Given the description of an element on the screen output the (x, y) to click on. 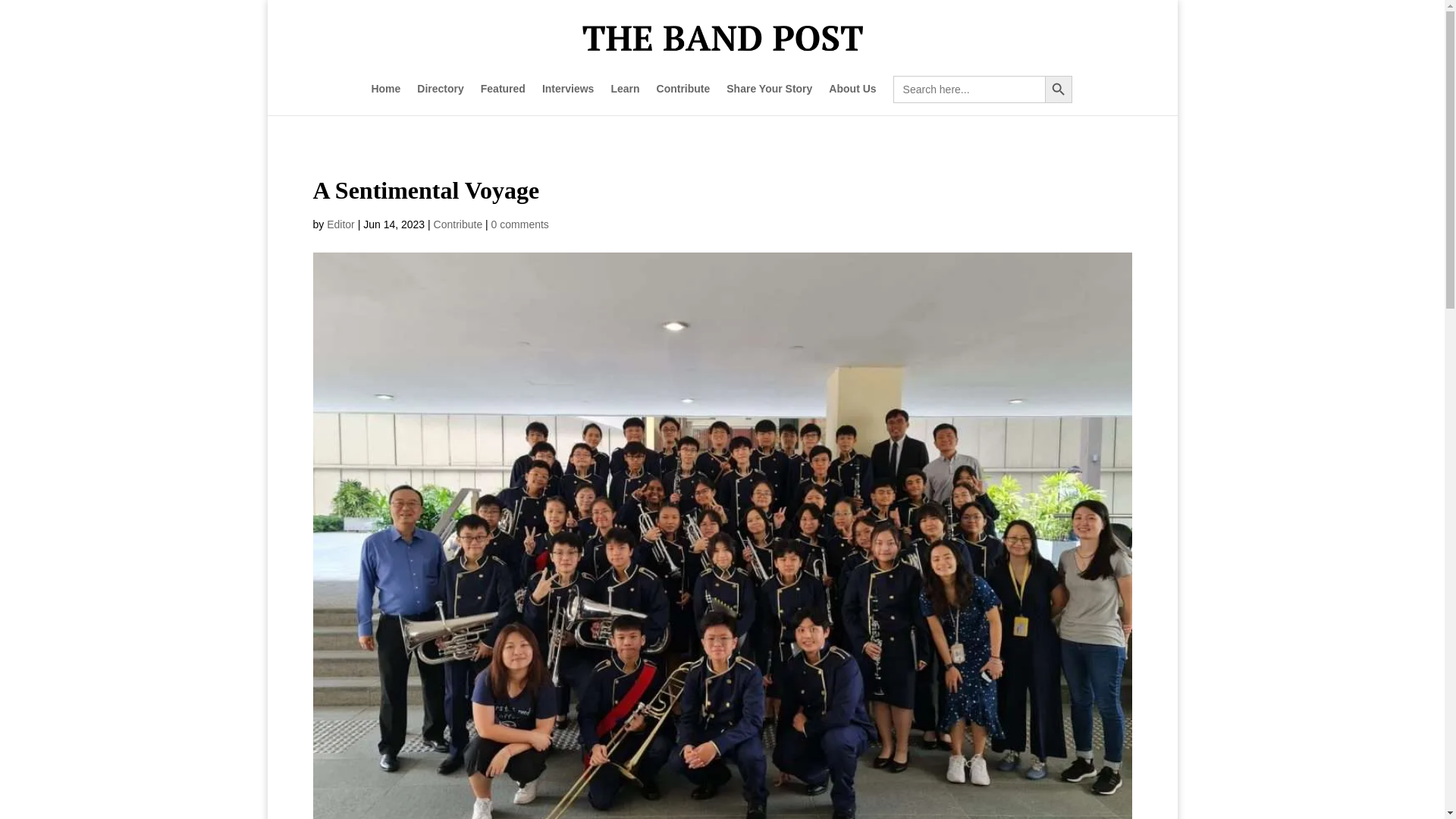
Featured (502, 99)
0 comments (520, 224)
Search Button (1058, 89)
Directory (439, 99)
Contribute (458, 224)
Learn (624, 99)
Home (385, 99)
Editor (340, 224)
Contribute (683, 99)
Interviews (567, 99)
Posts by Editor (340, 224)
About Us (852, 99)
Share Your Story (769, 99)
